Given the description of an element on the screen output the (x, y) to click on. 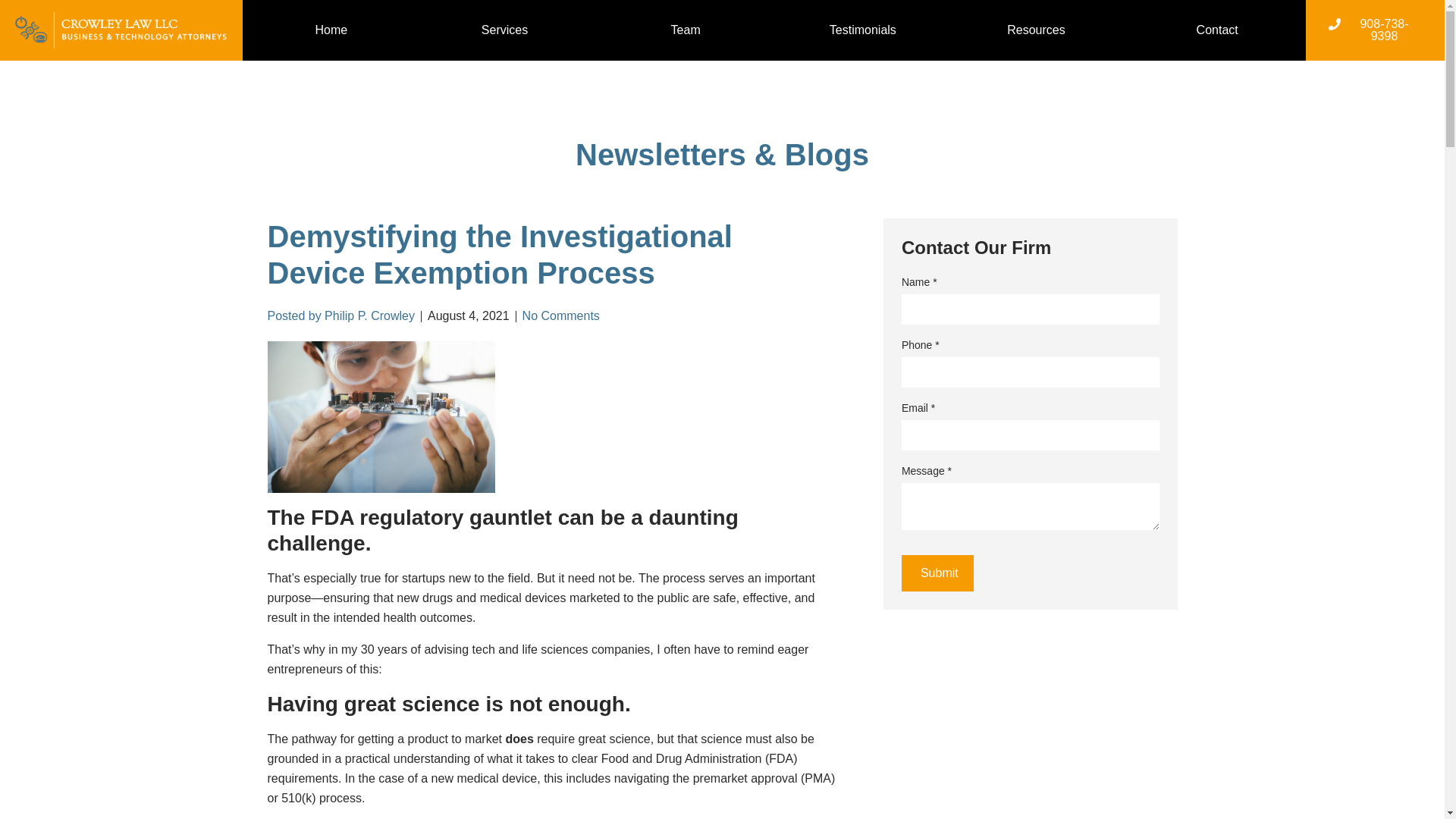
Team (685, 30)
Services (508, 30)
Resources (1040, 30)
Contact (1217, 30)
Home (331, 30)
Testimonials (863, 30)
